Given the description of an element on the screen output the (x, y) to click on. 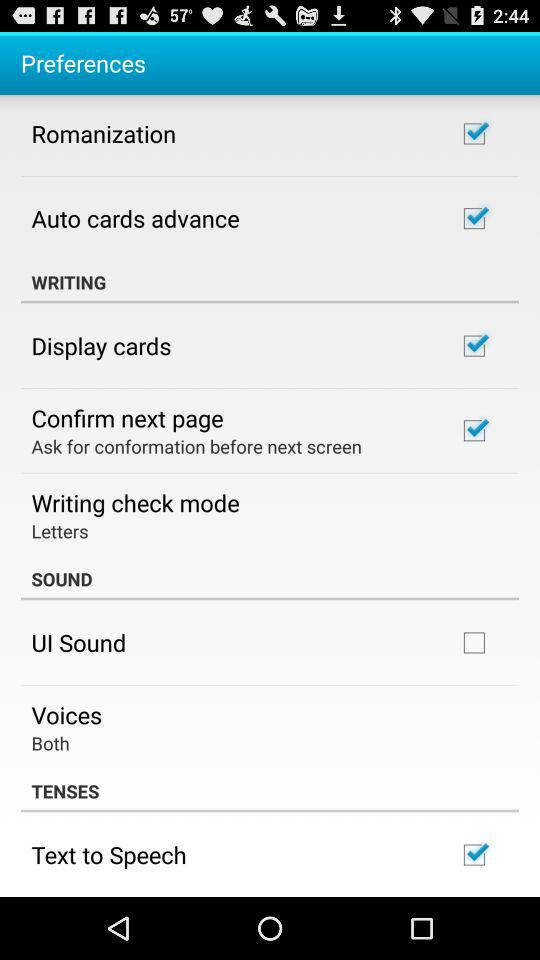
flip until the confirm next page (127, 417)
